Given the description of an element on the screen output the (x, y) to click on. 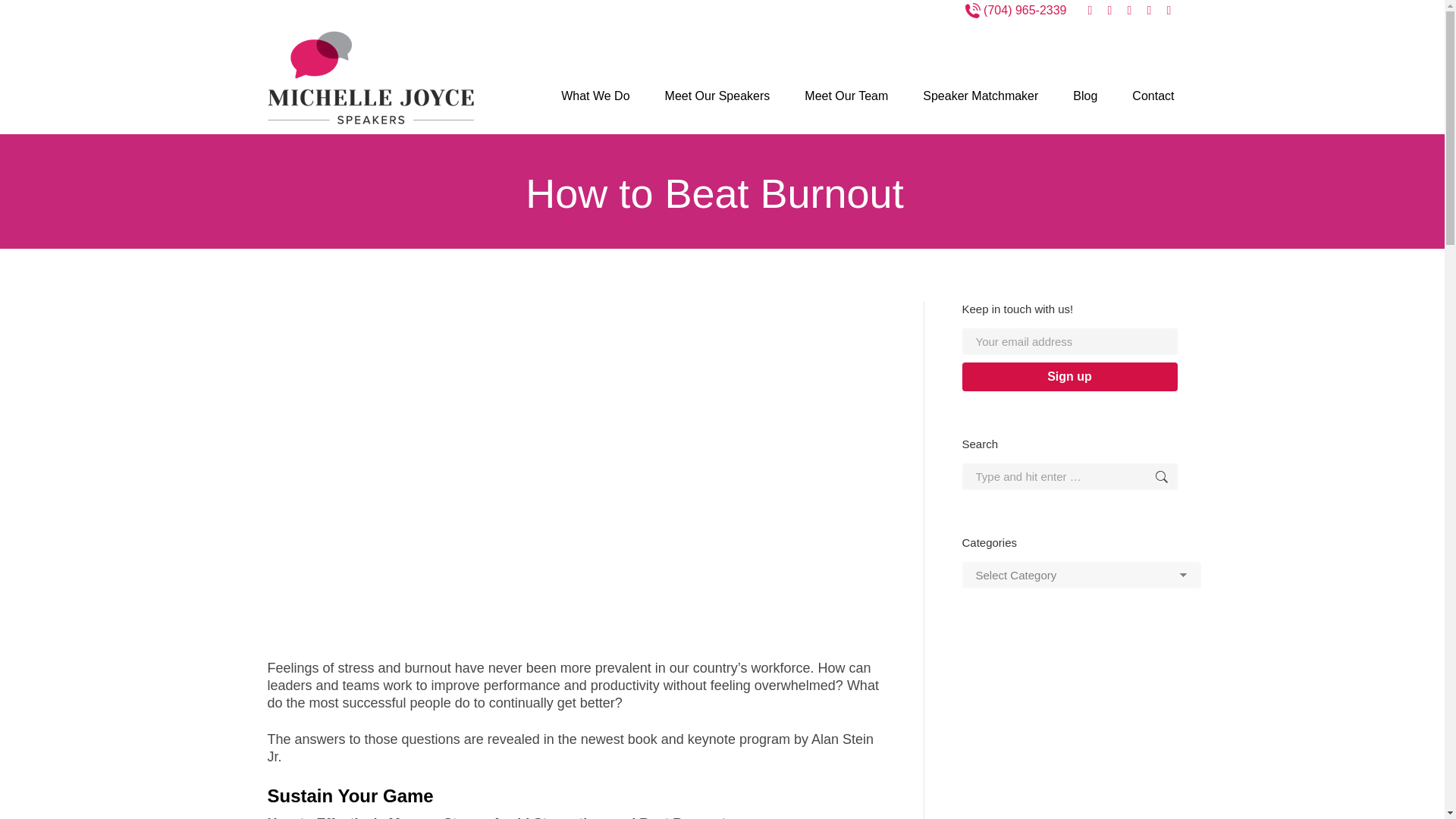
Meet Our Speakers (717, 95)
Go! (1146, 476)
Facebook page opens in new window (1090, 10)
Vimeo page opens in new window (1129, 10)
What We Do (594, 95)
Meet Our Team (846, 95)
Facebook page opens in new window (1090, 10)
Go! (1146, 476)
YouTube page opens in new window (1149, 10)
Linkedin page opens in new window (1110, 10)
YouTube page opens in new window (1149, 10)
Instagram page opens in new window (1168, 10)
Linkedin page opens in new window (1110, 10)
Sign up (1068, 376)
Speaker Matchmaker (980, 95)
